Given the description of an element on the screen output the (x, y) to click on. 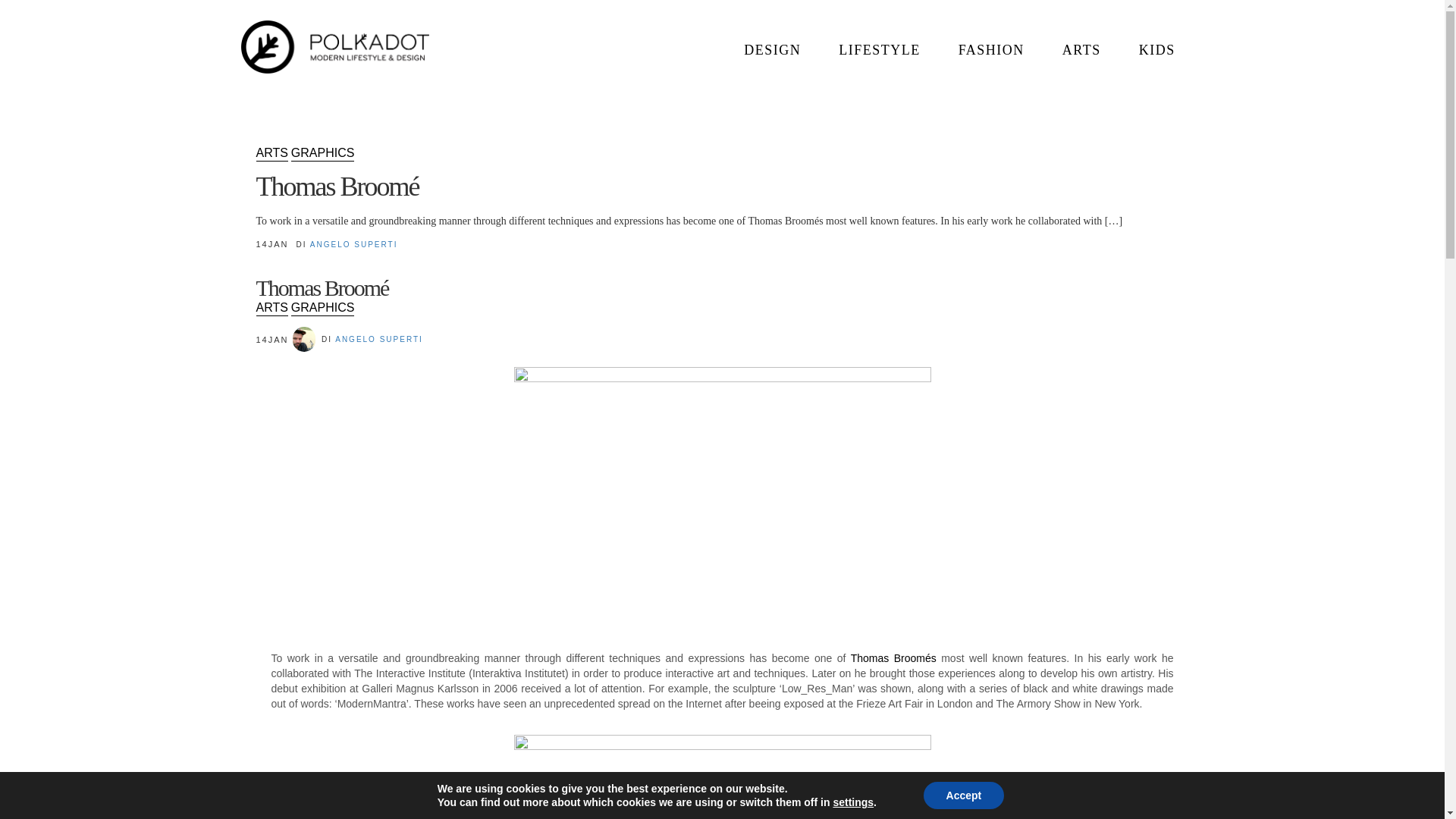
ARTS (272, 153)
Thursday, January, 2010, 11:28 pm (261, 243)
Angelo Superti (353, 244)
LIFESTYLE (879, 50)
Polkadot (335, 46)
KIDS (1156, 50)
Angelo Superti (378, 338)
FASHION (991, 50)
ARTS (1081, 50)
ANGELO SUPERTI (378, 338)
